Given the description of an element on the screen output the (x, y) to click on. 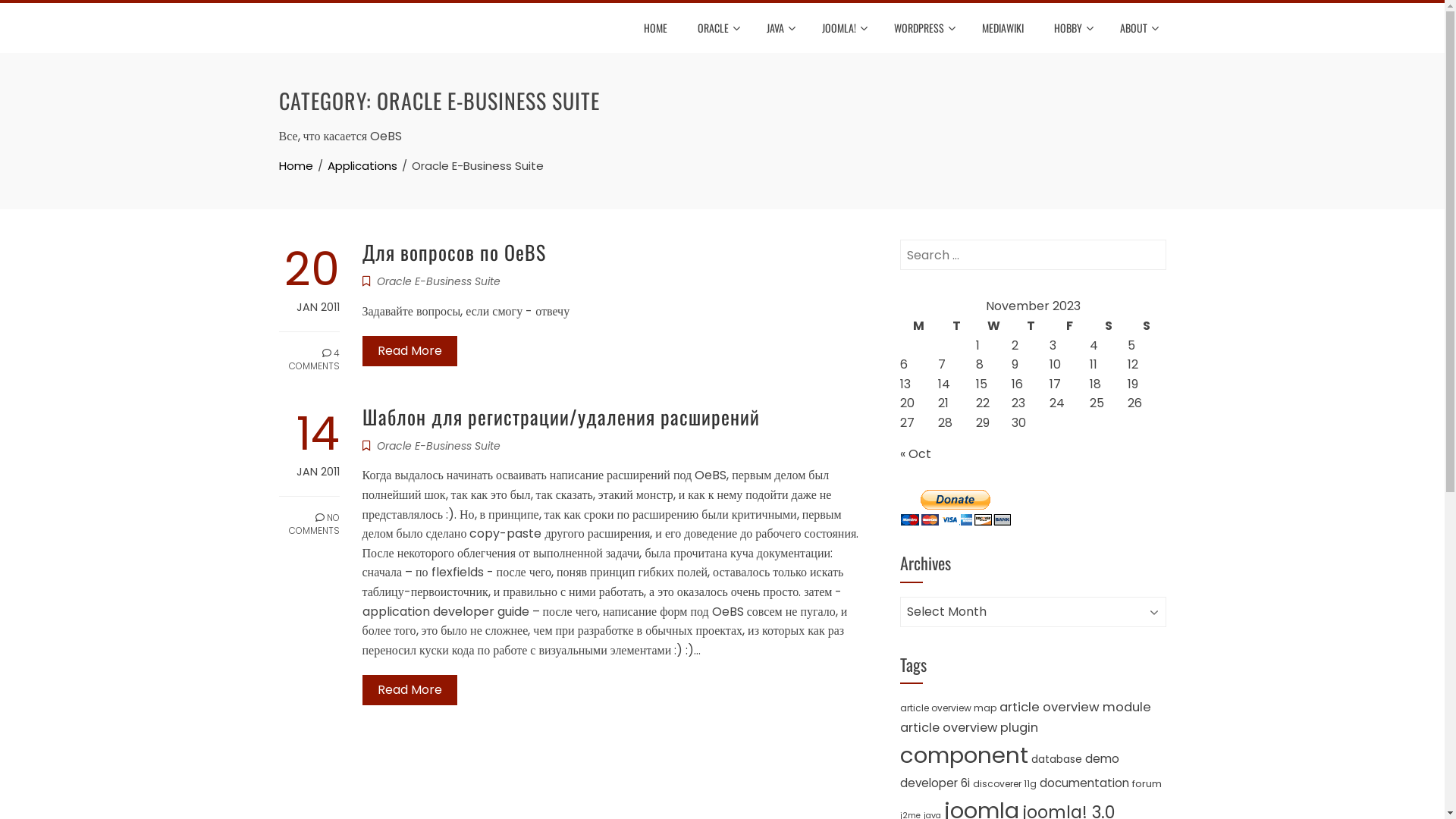
JOOMLA! Element type: text (841, 27)
developer 6i Element type: text (934, 782)
Oracle E-Business Suite Element type: text (437, 280)
Read More Element type: text (409, 689)
Search Element type: text (36, 15)
component Element type: text (963, 754)
Home Element type: text (296, 165)
Oracle E-Business Suite Element type: text (437, 445)
documentation Element type: text (1083, 782)
discoverer 11g Element type: text (1003, 783)
database Element type: text (1056, 758)
ORACLE Element type: text (715, 27)
HOME Element type: text (655, 27)
article overview module Element type: text (1075, 706)
forum Element type: text (1146, 783)
article overview plugin Element type: text (968, 727)
ABOUT Element type: text (1137, 27)
WORDPRESS Element type: text (922, 27)
JAVA Element type: text (779, 27)
4 COMMENTS Element type: text (309, 352)
NO COMMENTS Element type: text (309, 516)
Read More Element type: text (409, 350)
demo Element type: text (1101, 758)
Applications Element type: text (362, 165)
article overview map Element type: text (947, 707)
MEDIAWIKI Element type: text (1002, 27)
HOBBY Element type: text (1070, 27)
